Given the description of an element on the screen output the (x, y) to click on. 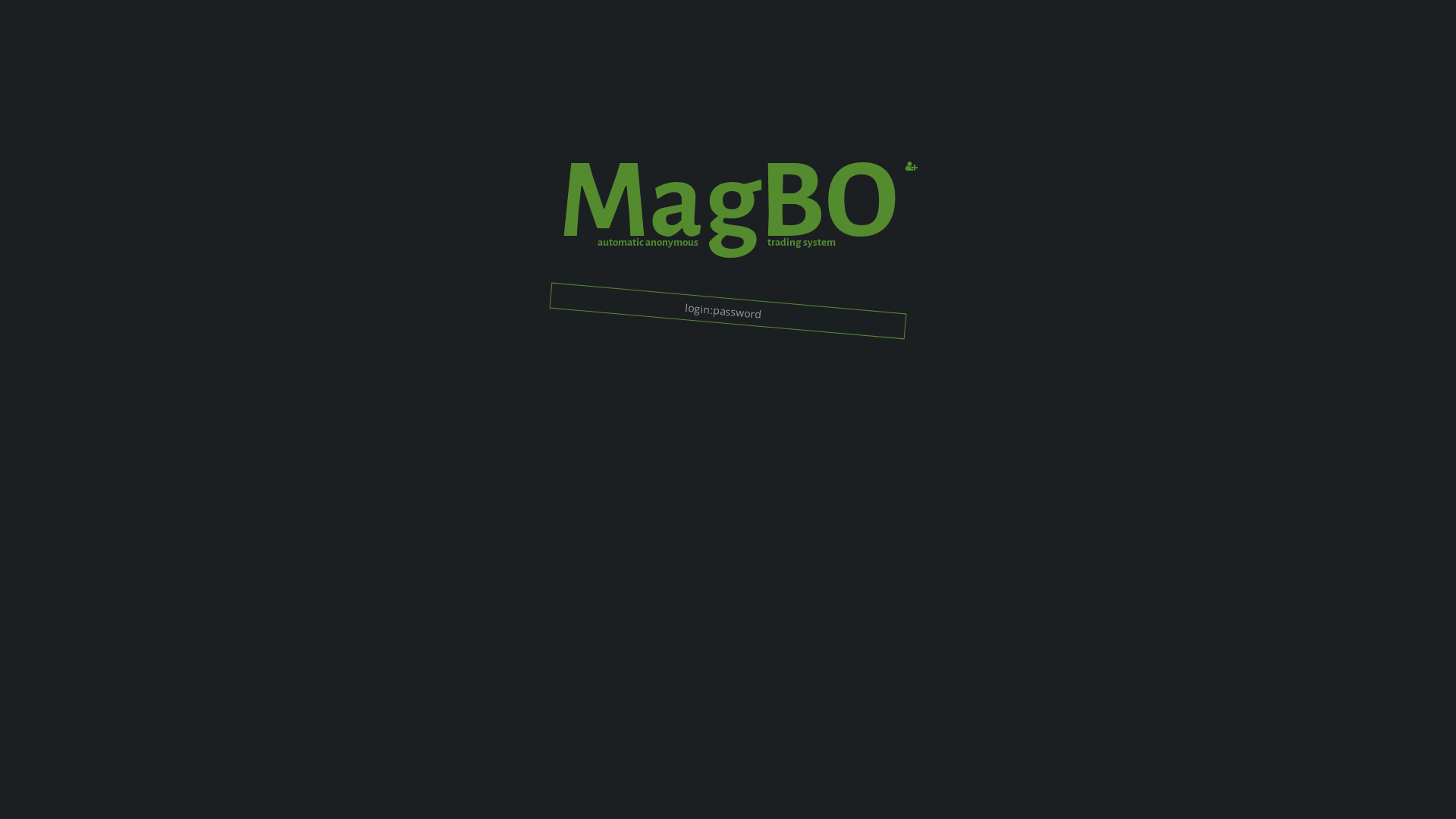
MagBO
automatic anonymous
trading system Element type: text (727, 224)
Sign Up Element type: hover (911, 165)
